Given the description of an element on the screen output the (x, y) to click on. 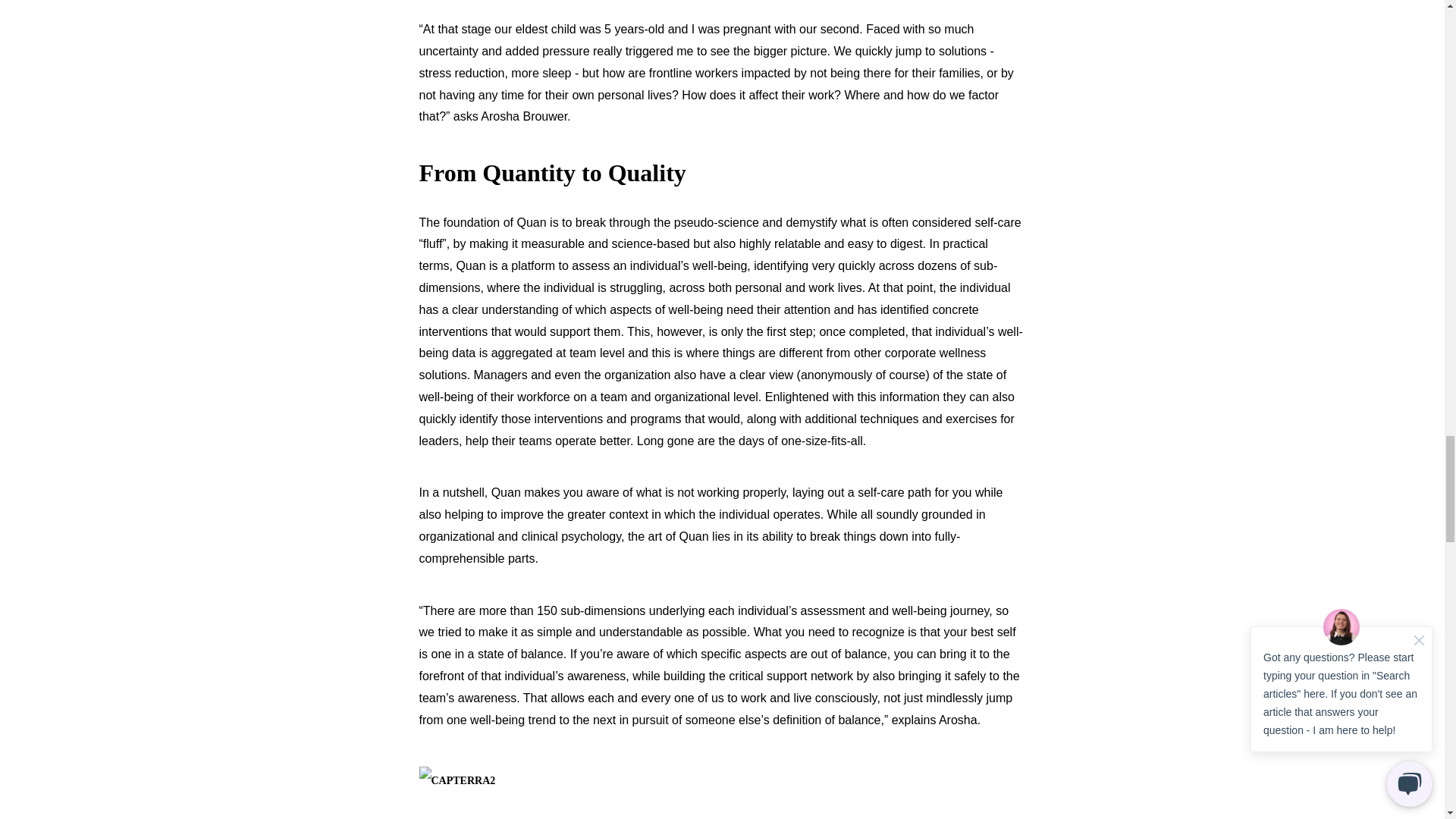
Quan (531, 222)
